Given the description of an element on the screen output the (x, y) to click on. 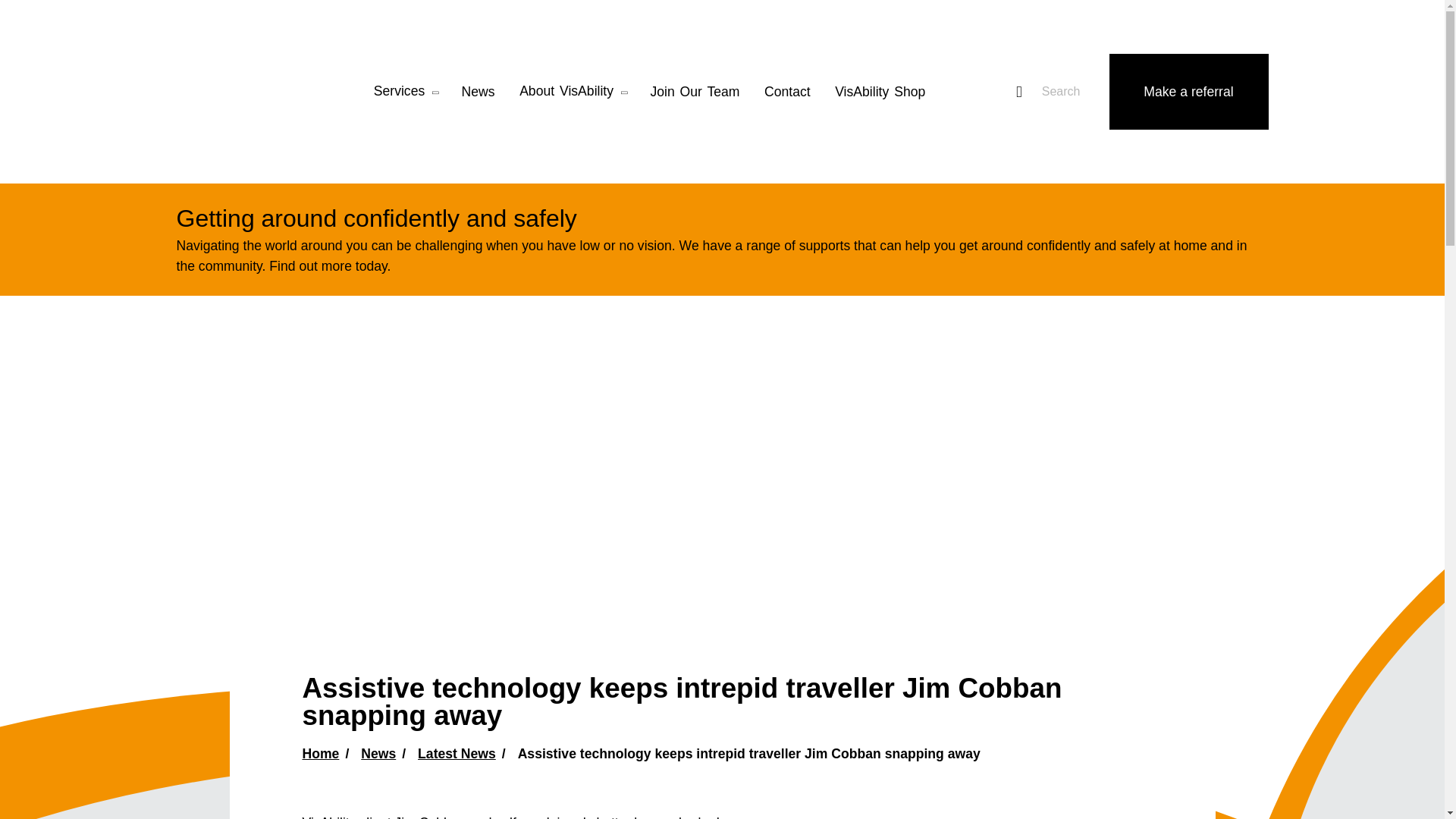
About VisAbility (572, 91)
Search (1043, 91)
News (478, 92)
VisAbility Shop (880, 92)
Services (405, 91)
Homepage - VisAbility Tasmania (259, 91)
Contact (786, 92)
Join Our Team (694, 92)
Make a referral (1188, 91)
